Given the description of an element on the screen output the (x, y) to click on. 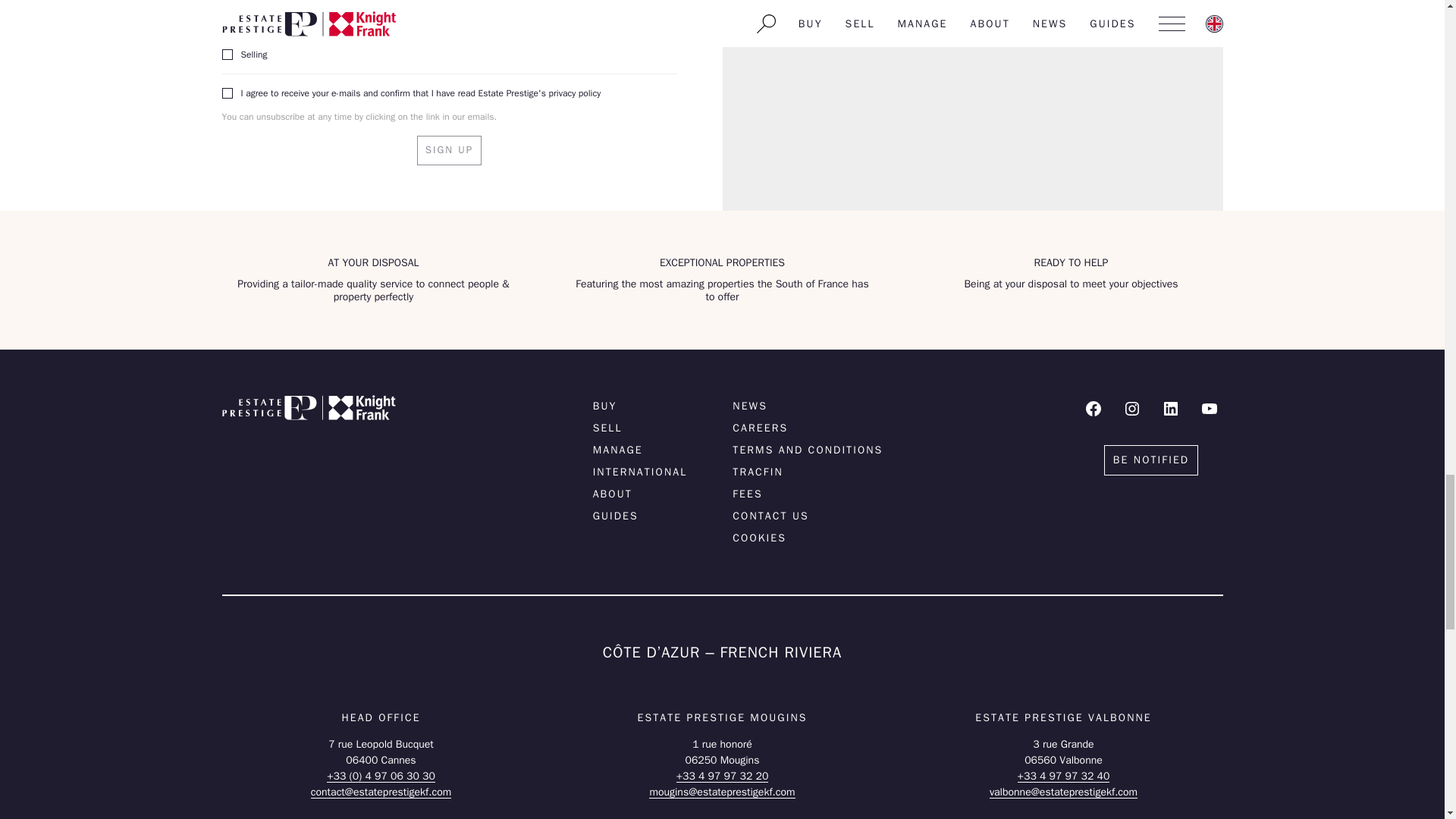
Sign up (448, 150)
